Given the description of an element on the screen output the (x, y) to click on. 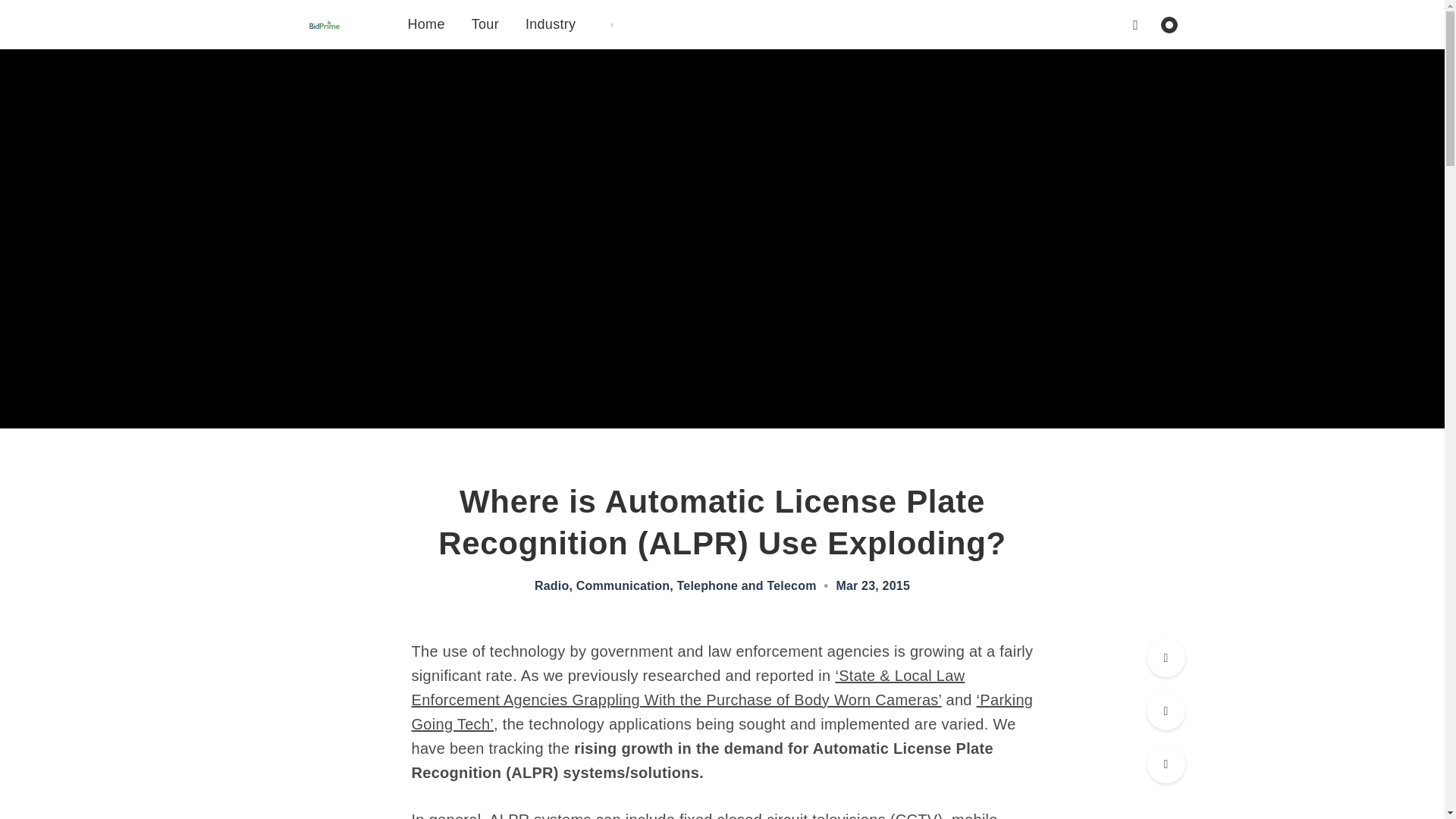
Radio, Communication, Telephone and Telecom (675, 585)
Tour (485, 23)
Home (426, 23)
